Given the description of an element on the screen output the (x, y) to click on. 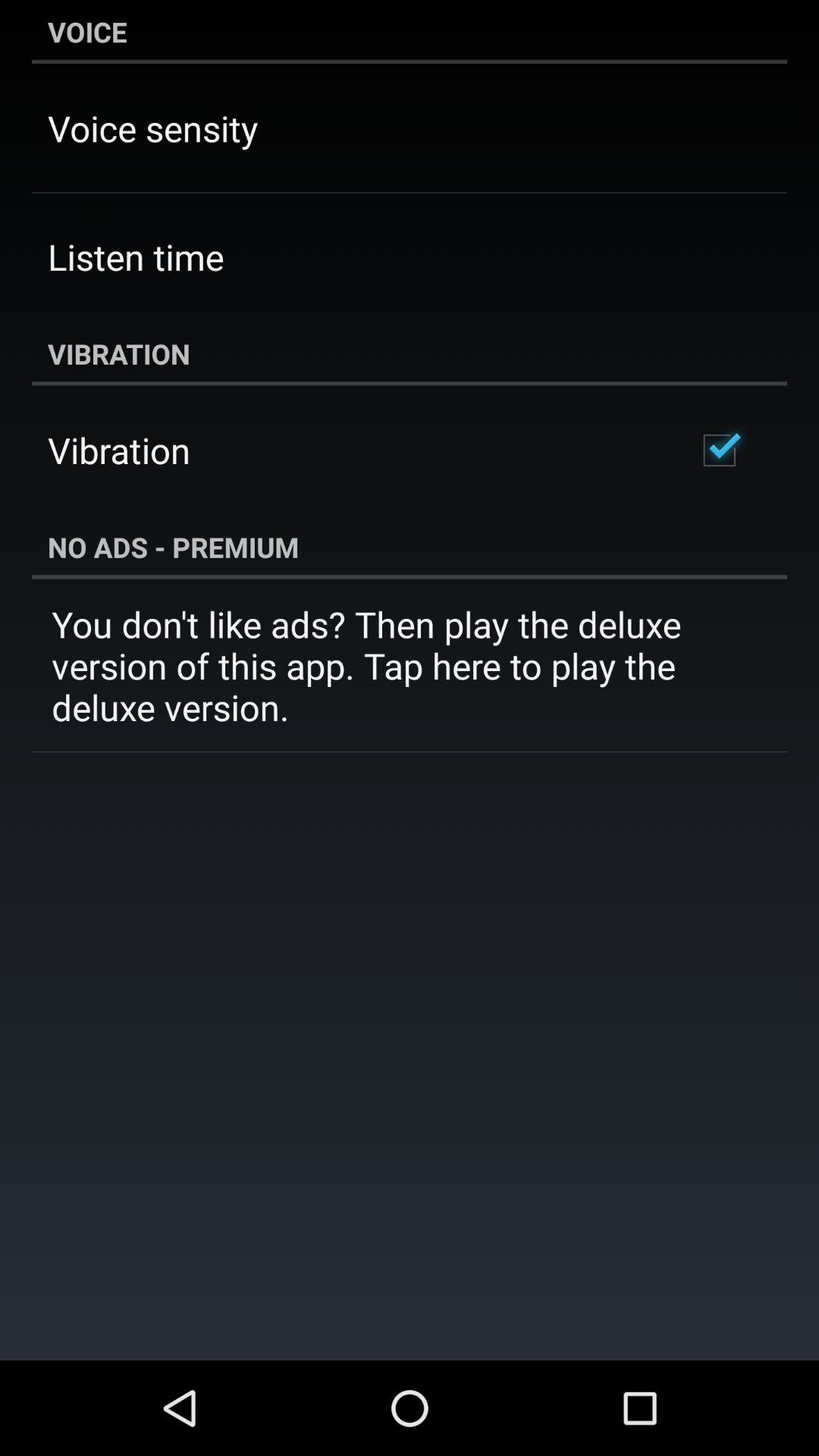
swipe to you don t app (409, 665)
